Given the description of an element on the screen output the (x, y) to click on. 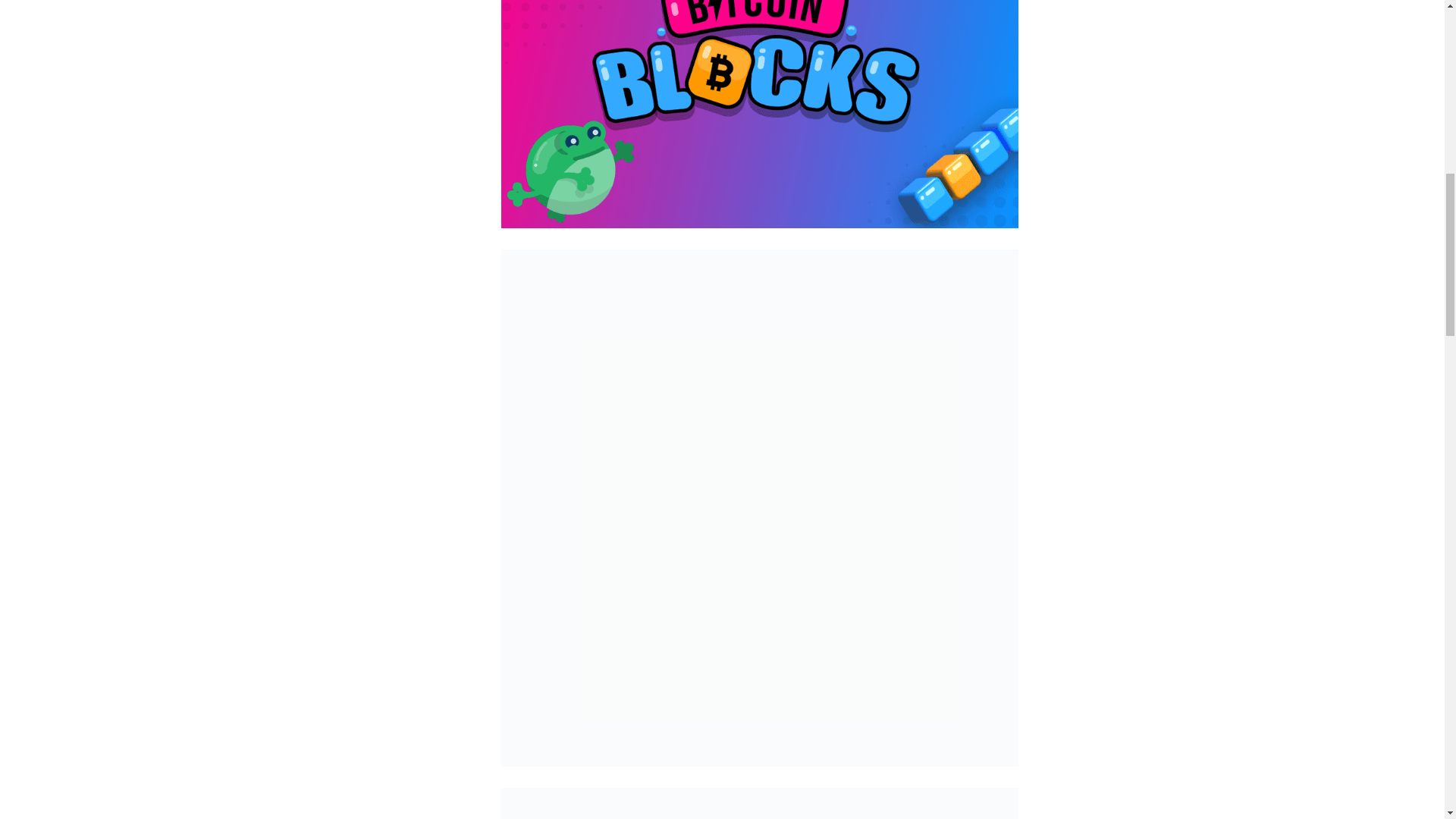
Bitcoin Blocks - Best Crypto Game (758, 803)
Bitcoin Blocks - Best Crypto Game (758, 114)
